Given the description of an element on the screen output the (x, y) to click on. 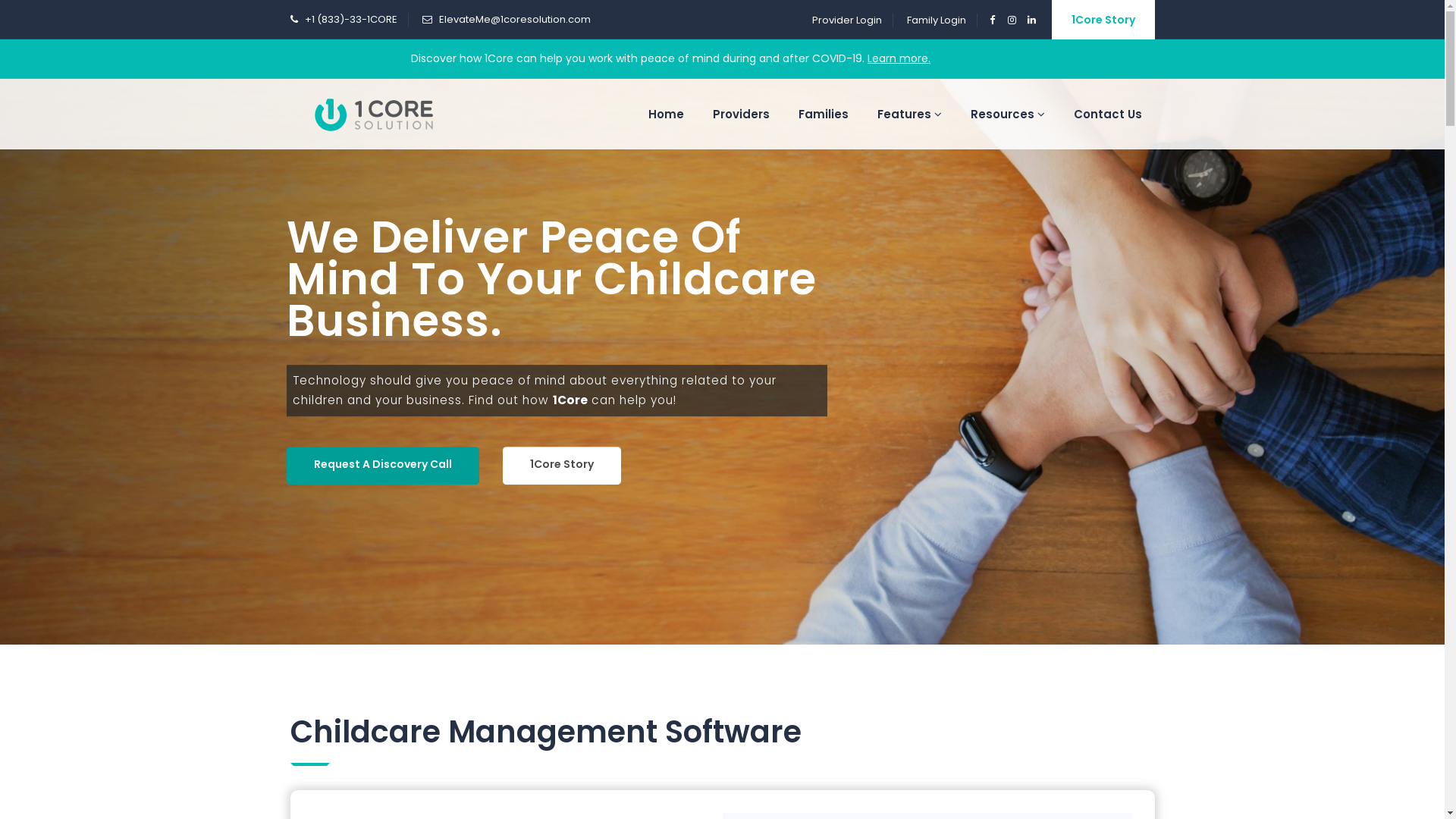
1Core Story Element type: text (561, 465)
Resources Element type: text (1007, 113)
Families Element type: text (823, 113)
Request A Discovery Call Element type: text (382, 465)
Home Element type: text (665, 113)
Contact Us Element type: text (1107, 113)
Family Login Element type: text (936, 19)
1Core Element type: hover (373, 113)
Features Element type: text (909, 113)
Learn more. Element type: text (898, 57)
ElevateMe@1coresolution.com Element type: text (513, 19)
Provider Login Element type: text (846, 19)
1Core Story Element type: text (1102, 19)
Providers Element type: text (740, 113)
